Given the description of an element on the screen output the (x, y) to click on. 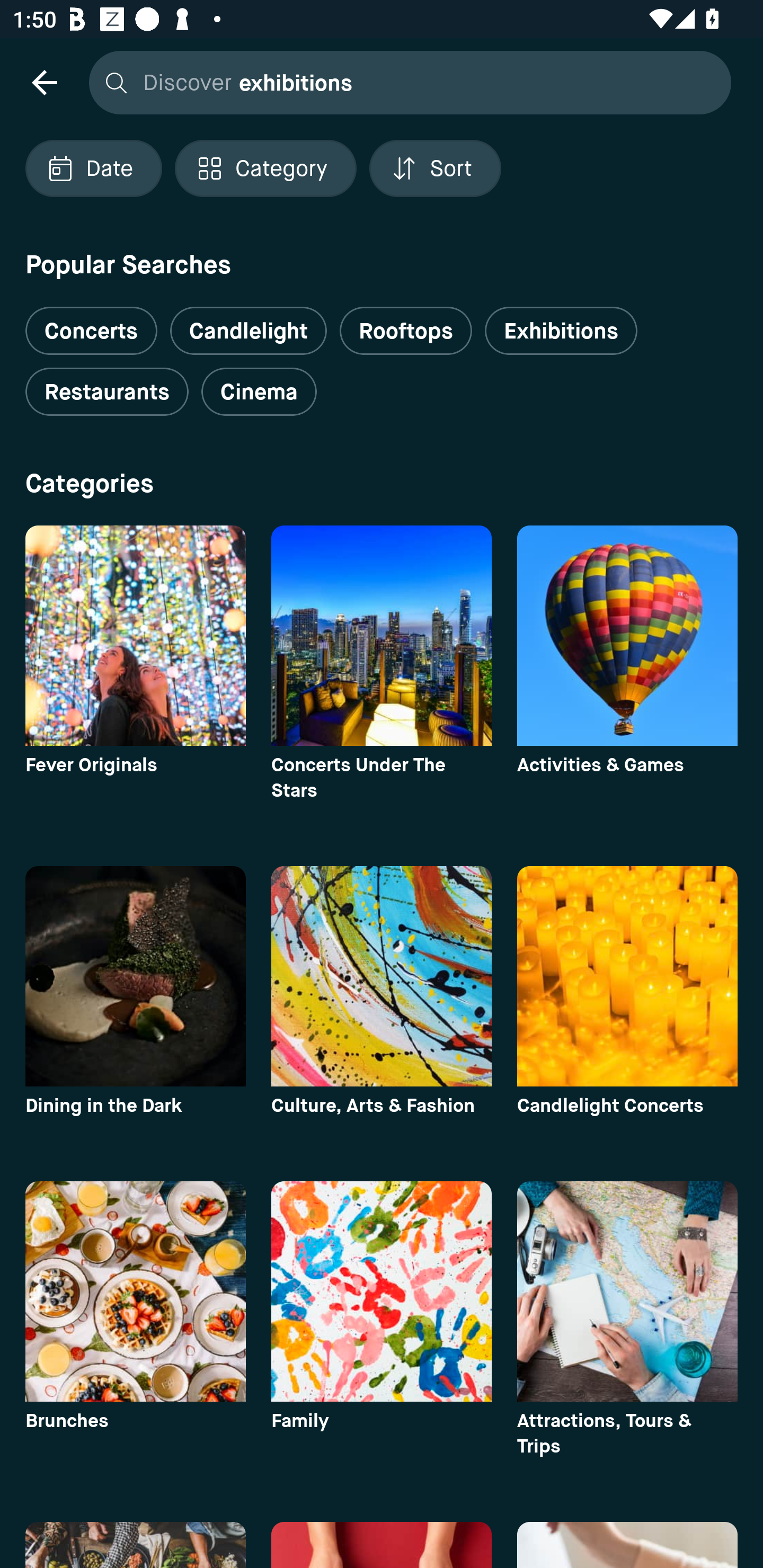
navigation icon (44, 81)
Discover exhibitions (405, 81)
Localized description Date (93, 168)
Localized description Category (265, 168)
Localized description Sort (435, 168)
Concerts (91, 323)
Candlelight (248, 330)
Rooftops (405, 330)
Exhibitions (560, 330)
Restaurants (106, 391)
Cinema (258, 391)
category image (135, 635)
category image (381, 635)
category image (627, 635)
category image (135, 975)
category image (381, 975)
category image (627, 975)
category image (135, 1290)
category image (381, 1290)
category image (627, 1290)
